Given the description of an element on the screen output the (x, y) to click on. 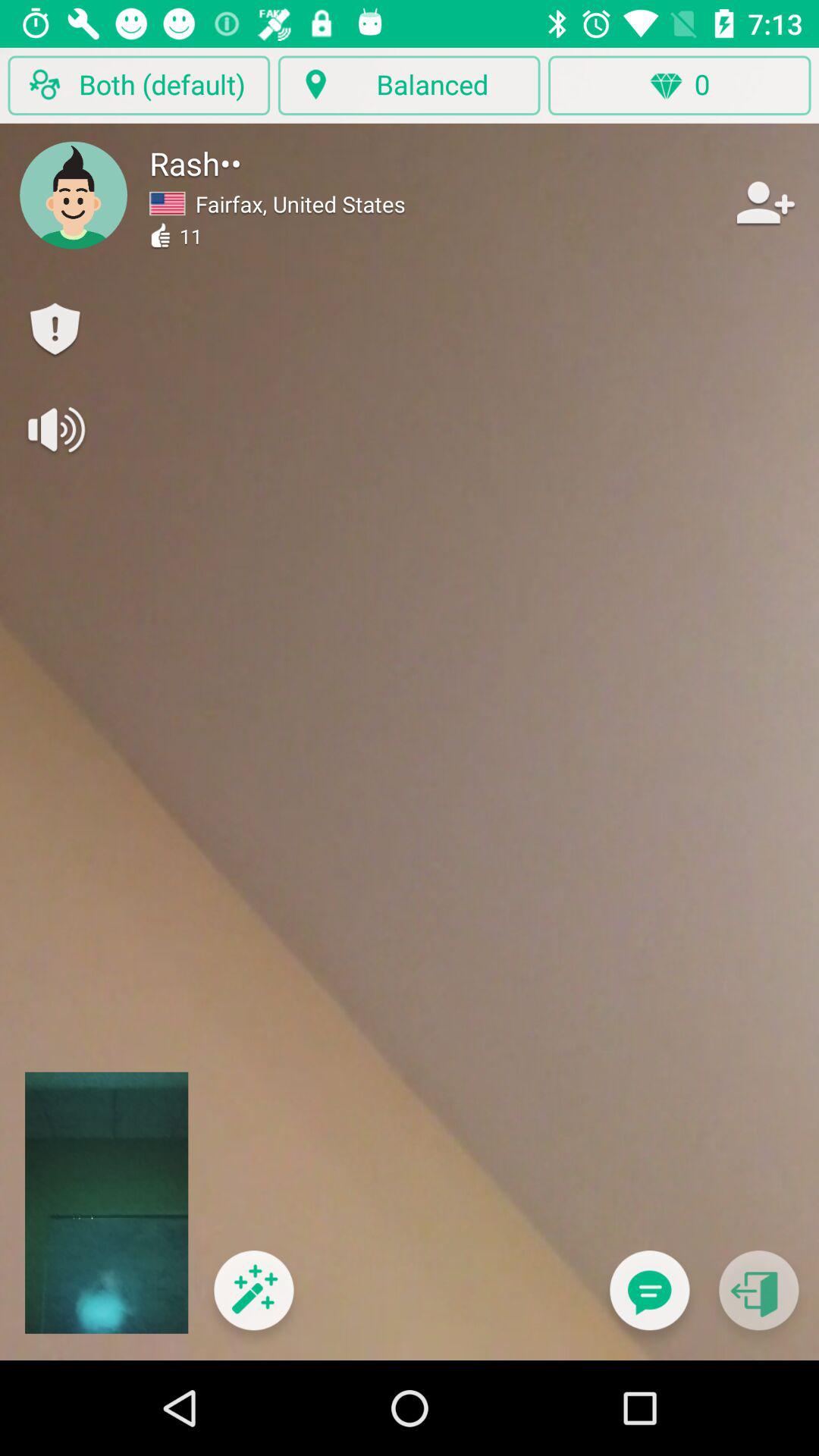
change avatar (73, 195)
